Given the description of an element on the screen output the (x, y) to click on. 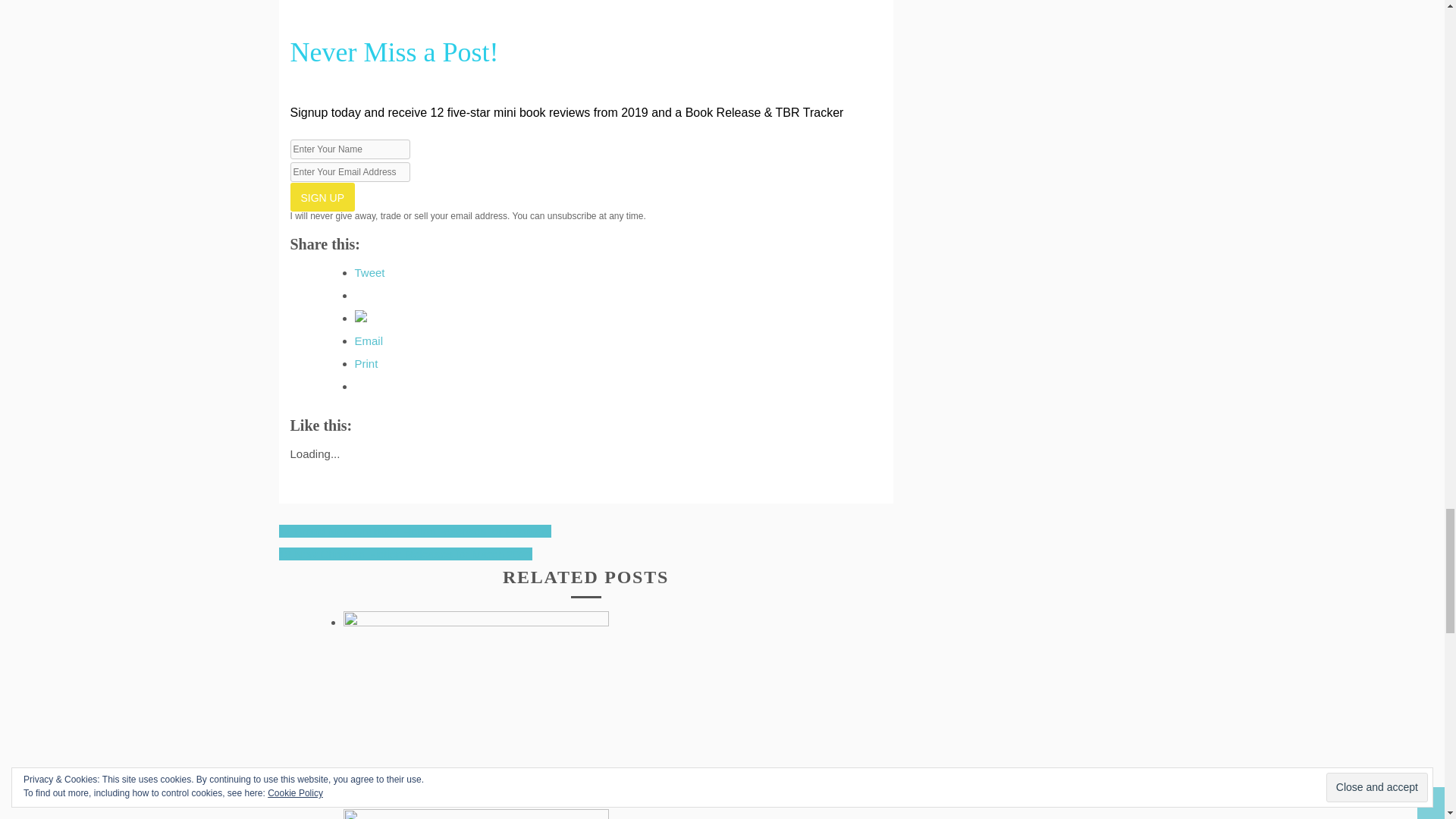
18 New Christian Fiction Releases for March 2021 (405, 553)
14 Brand New Christian Fiction Releases for February (415, 530)
SIGN UP (322, 196)
SIGN UP (322, 196)
Tweet (370, 272)
Click to print (366, 363)
Email (369, 340)
Print (366, 363)
Click to email a link to a friend (369, 340)
